Given the description of an element on the screen output the (x, y) to click on. 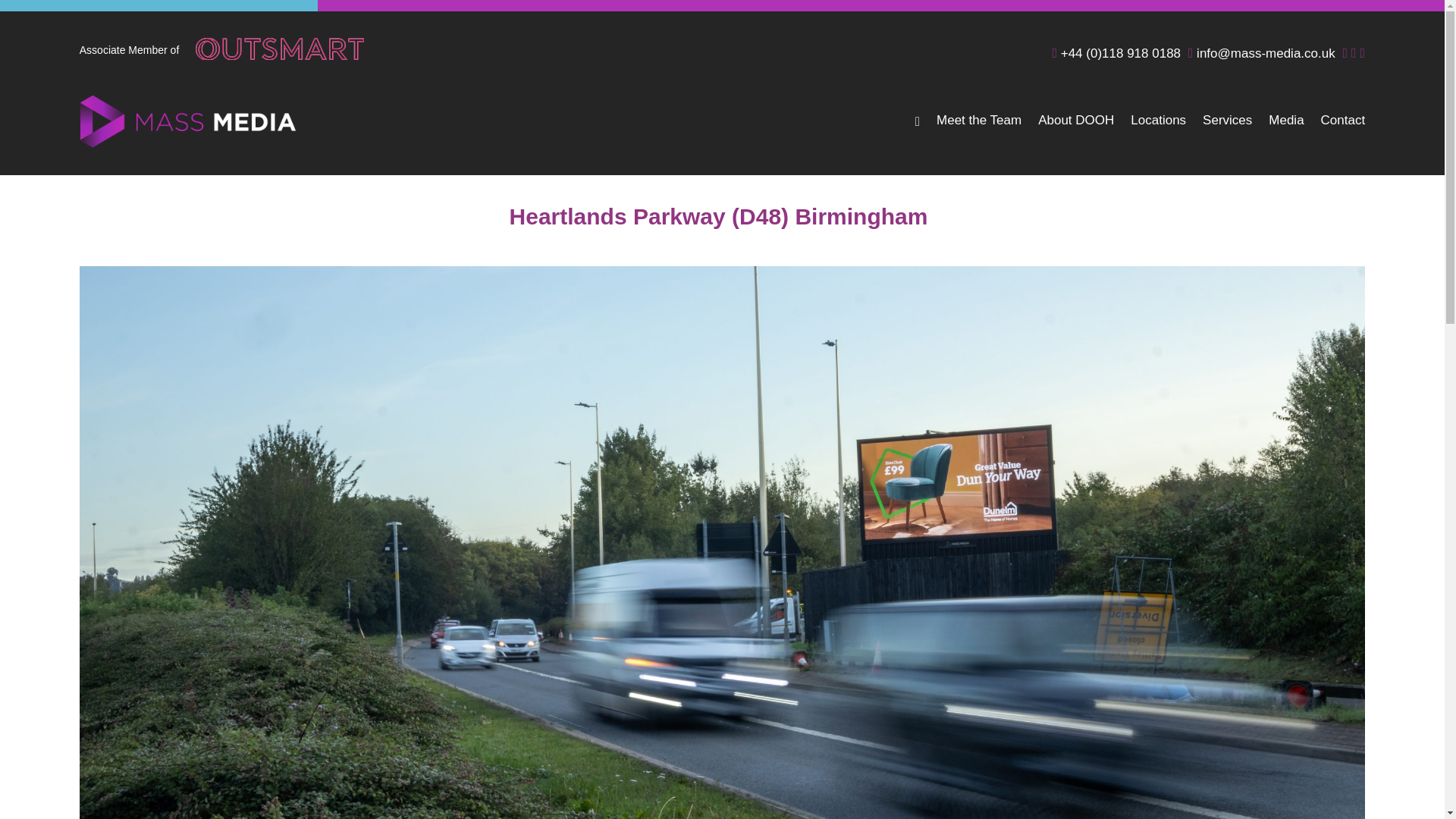
Media (1285, 131)
Meet the Team (979, 131)
Locations (1158, 131)
Services (1227, 131)
About DOOH (1075, 131)
Contact (1342, 131)
